Given the description of an element on the screen output the (x, y) to click on. 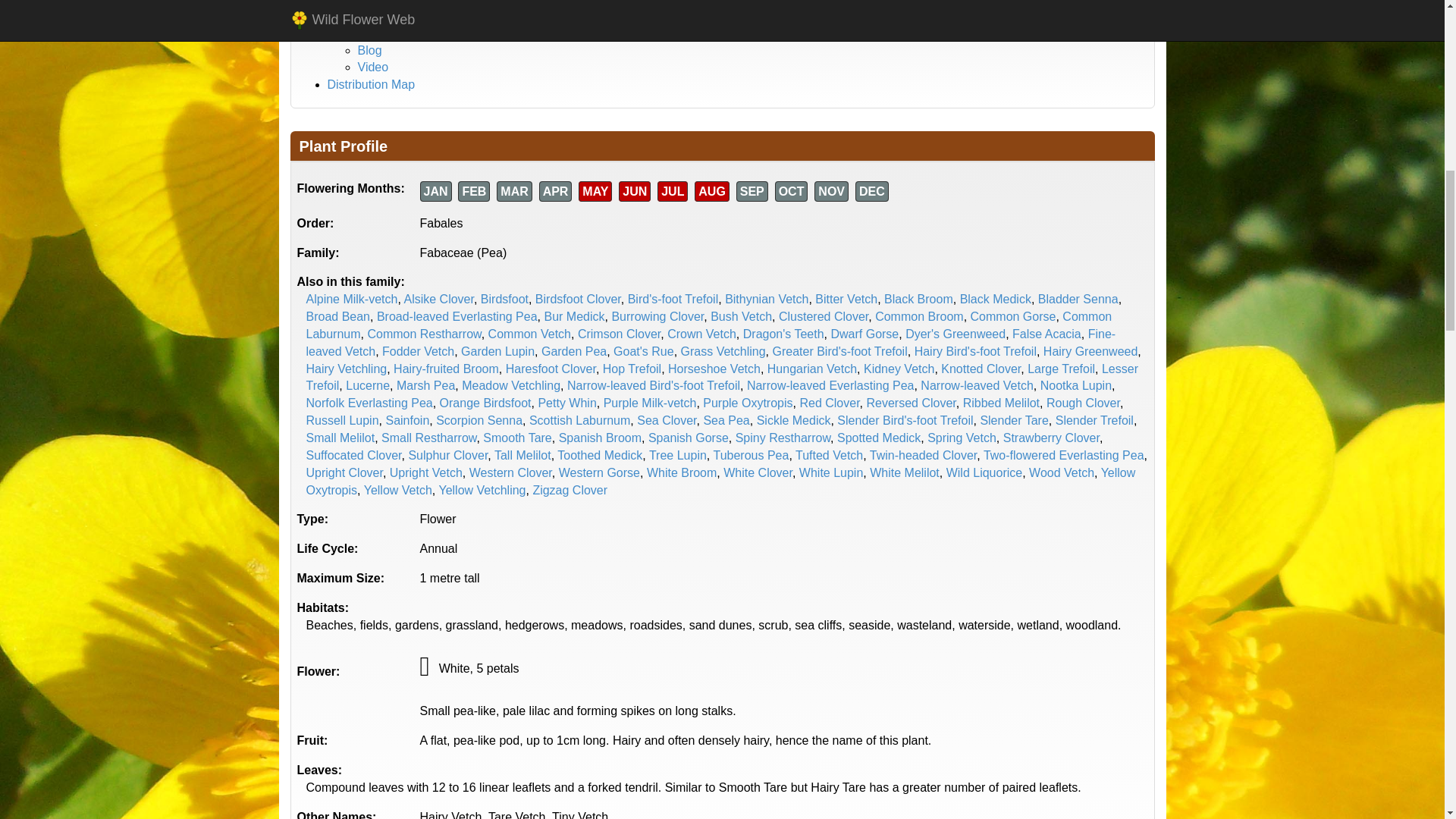
Video (373, 66)
Bush Vetch (740, 316)
Other Information (374, 15)
Bithynian Vetch (766, 298)
Bitter Vetch (846, 298)
Summary (383, 32)
Alsike Clover (438, 298)
Burrowing Clover (657, 316)
Broad Bean (338, 316)
Black Medick (994, 298)
